Given the description of an element on the screen output the (x, y) to click on. 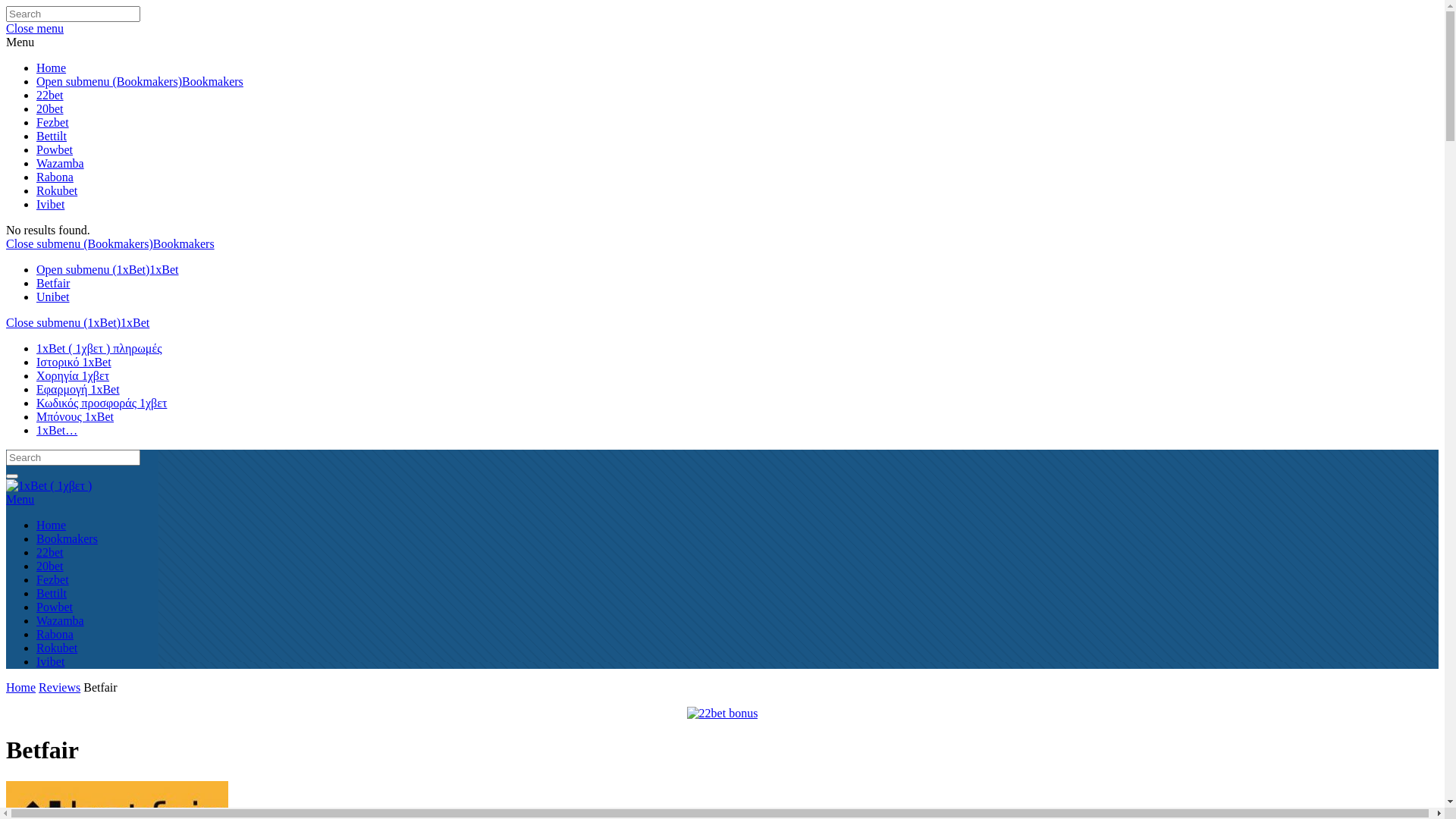
Ivibet Element type: text (50, 203)
Menu Element type: text (722, 498)
Bookmakers Element type: text (66, 538)
Rokubet Element type: text (56, 190)
Ivibet Element type: text (50, 661)
Powbet Element type: text (54, 606)
Menu Element type: text (20, 41)
20bet Element type: text (49, 565)
Fezbet Element type: text (52, 122)
22bet Element type: text (49, 552)
Rabona Element type: text (54, 176)
Open submenu (Bookmakers) Element type: text (109, 81)
20bet Element type: text (49, 108)
22bet Element type: text (49, 94)
Rokubet Element type: text (56, 647)
Bettilt Element type: text (51, 135)
1xBet Element type: text (163, 269)
Close menu Element type: text (34, 27)
Rabona Element type: text (54, 633)
Close submenu (Bookmakers) Element type: text (79, 243)
Bettilt Element type: text (51, 592)
Bookmakers Element type: text (183, 243)
Betfair Element type: text (52, 282)
Reviews Element type: text (59, 686)
1xBet Element type: text (134, 322)
Bookmakers Element type: text (212, 81)
Close submenu (1xBet) Element type: text (63, 322)
Fezbet Element type: text (52, 579)
Wazamba Element type: text (60, 620)
Unibet Element type: text (52, 296)
Home Element type: text (50, 524)
Home Element type: text (50, 67)
Open submenu (1xBet) Element type: text (92, 269)
Wazamba Element type: text (60, 162)
Home Element type: text (20, 686)
Powbet Element type: text (54, 149)
